Given the description of an element on the screen output the (x, y) to click on. 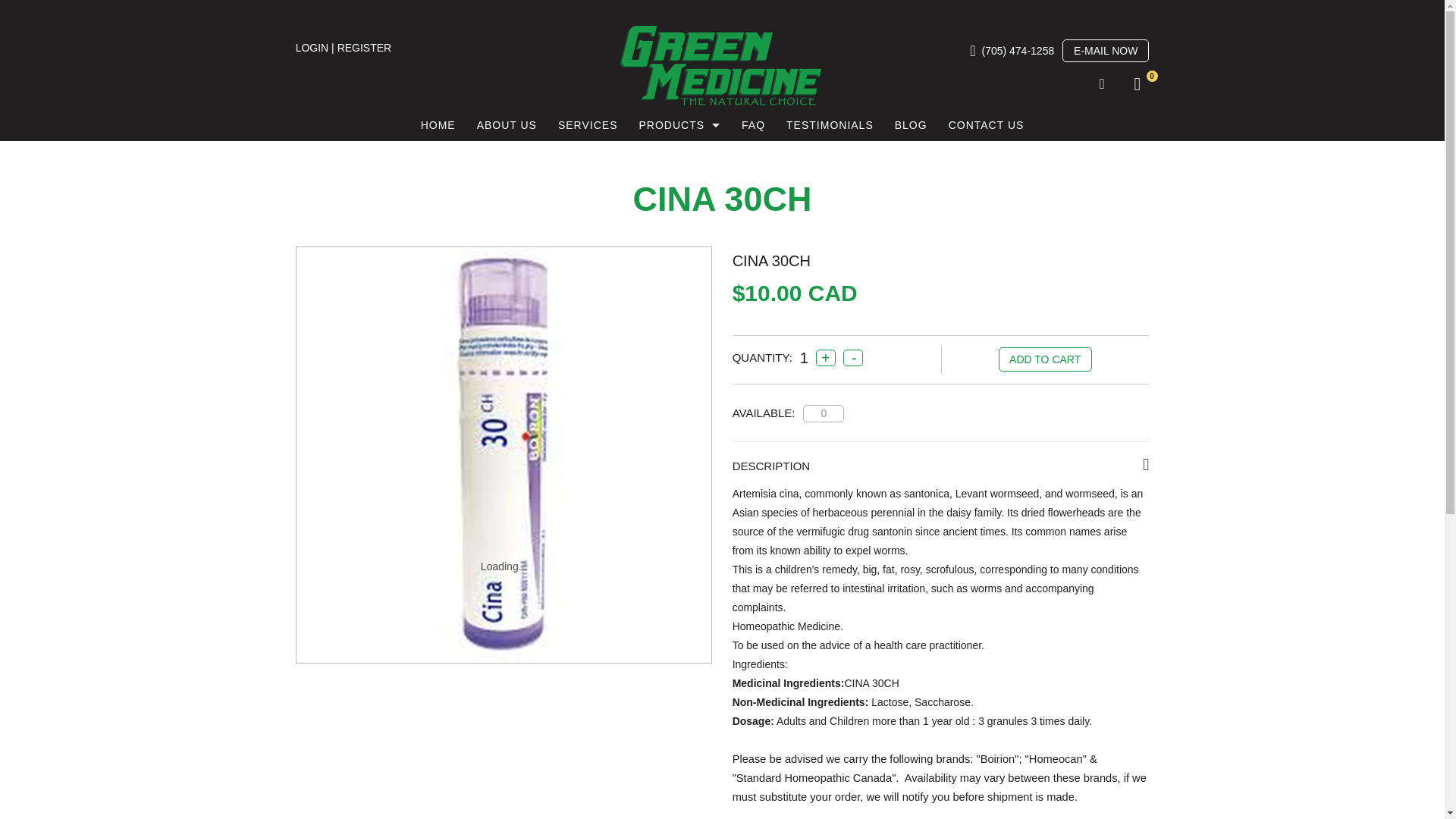
REGISTER (364, 47)
HOME (437, 124)
0 (1135, 86)
LOGIN (312, 47)
SERVICES (587, 124)
 Add to cart  (1045, 359)
ABOUT US (506, 124)
E-MAIL NOW (1105, 50)
PRODUCTS (678, 124)
